Given the description of an element on the screen output the (x, y) to click on. 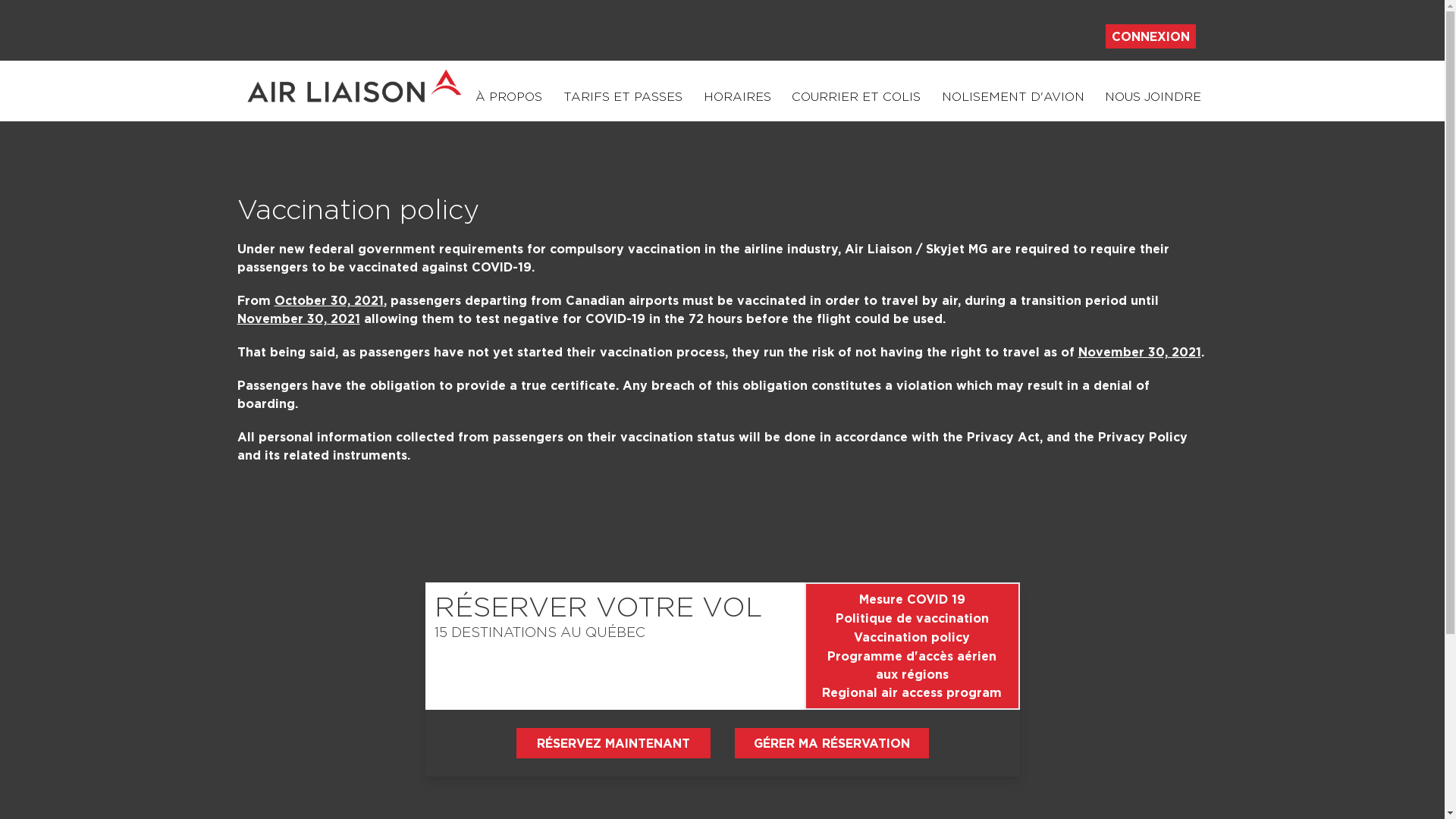
TARIFS ET PASSES Element type: text (622, 101)
Regional air access program Element type: text (911, 692)
Regional air access program Element type: text (911, 692)
Vaccination policy Element type: text (911, 636)
Politique de vaccination Element type: text (911, 617)
Vaccination policy Element type: text (911, 636)
NOLISEMENT D'AVION Element type: text (1012, 101)
Mesure COVID 19 Element type: text (911, 598)
COURRIER ET COLIS Element type: text (855, 101)
Mesure COVID 19 Element type: text (911, 599)
CONNEXION Element type: text (1150, 36)
Politique de vaccination Element type: text (911, 617)
NOUS JOINDRE Element type: text (1152, 101)
HORAIRES Element type: text (737, 101)
